Given the description of an element on the screen output the (x, y) to click on. 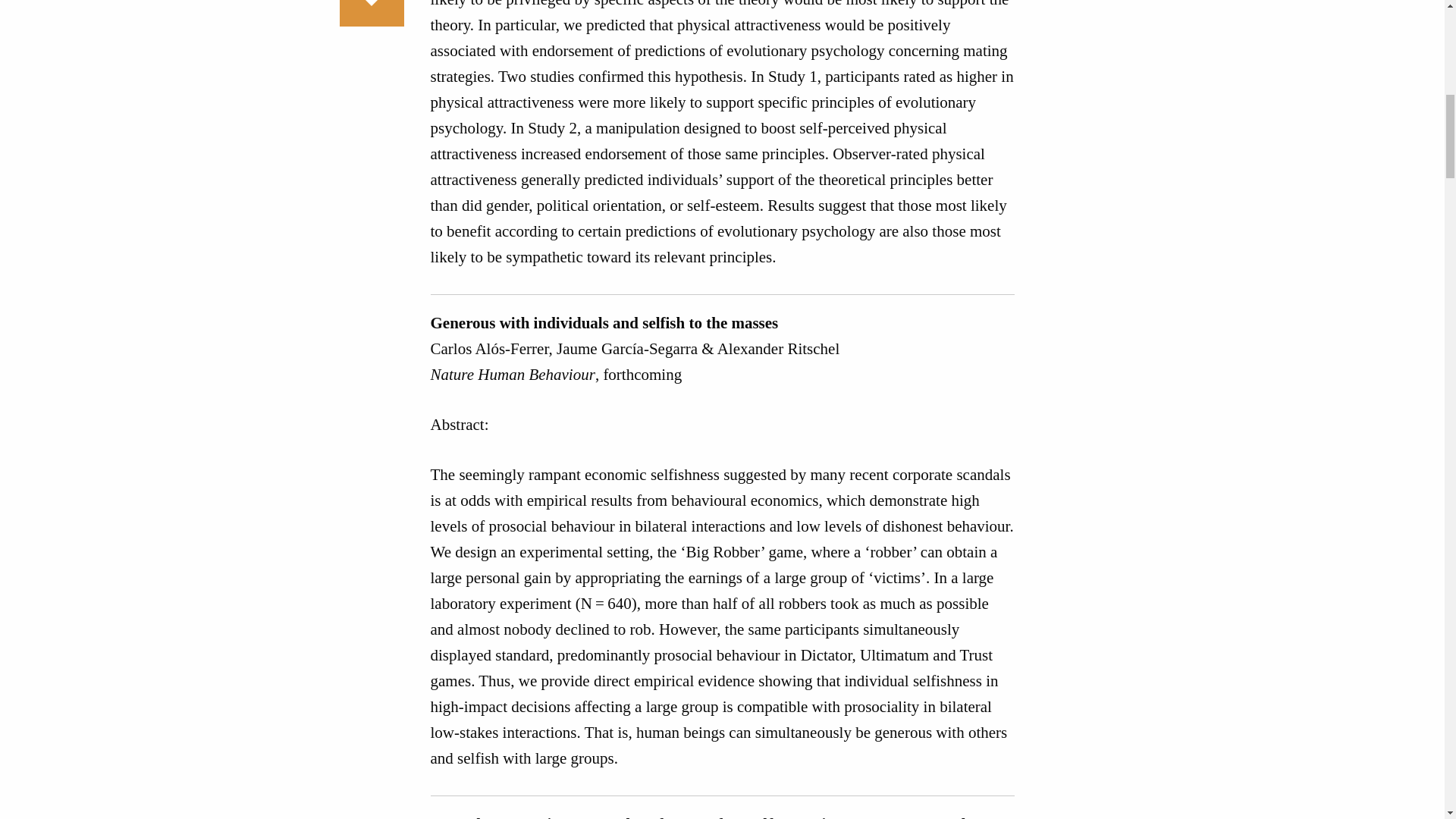
Generous with individuals and selfish to the masses (604, 322)
